Given the description of an element on the screen output the (x, y) to click on. 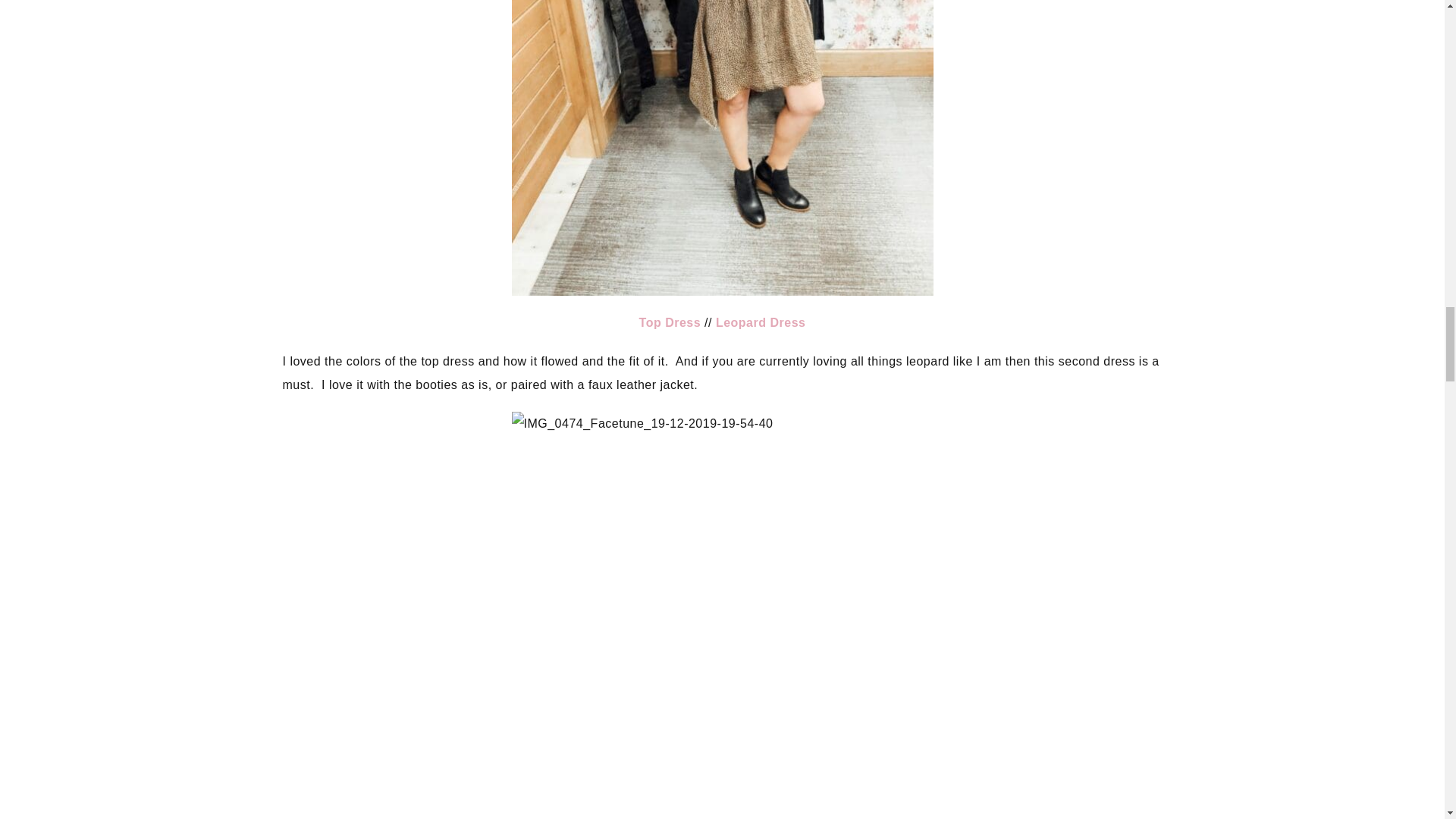
Leopard Dress (761, 322)
Top Dress (670, 322)
